Given the description of an element on the screen output the (x, y) to click on. 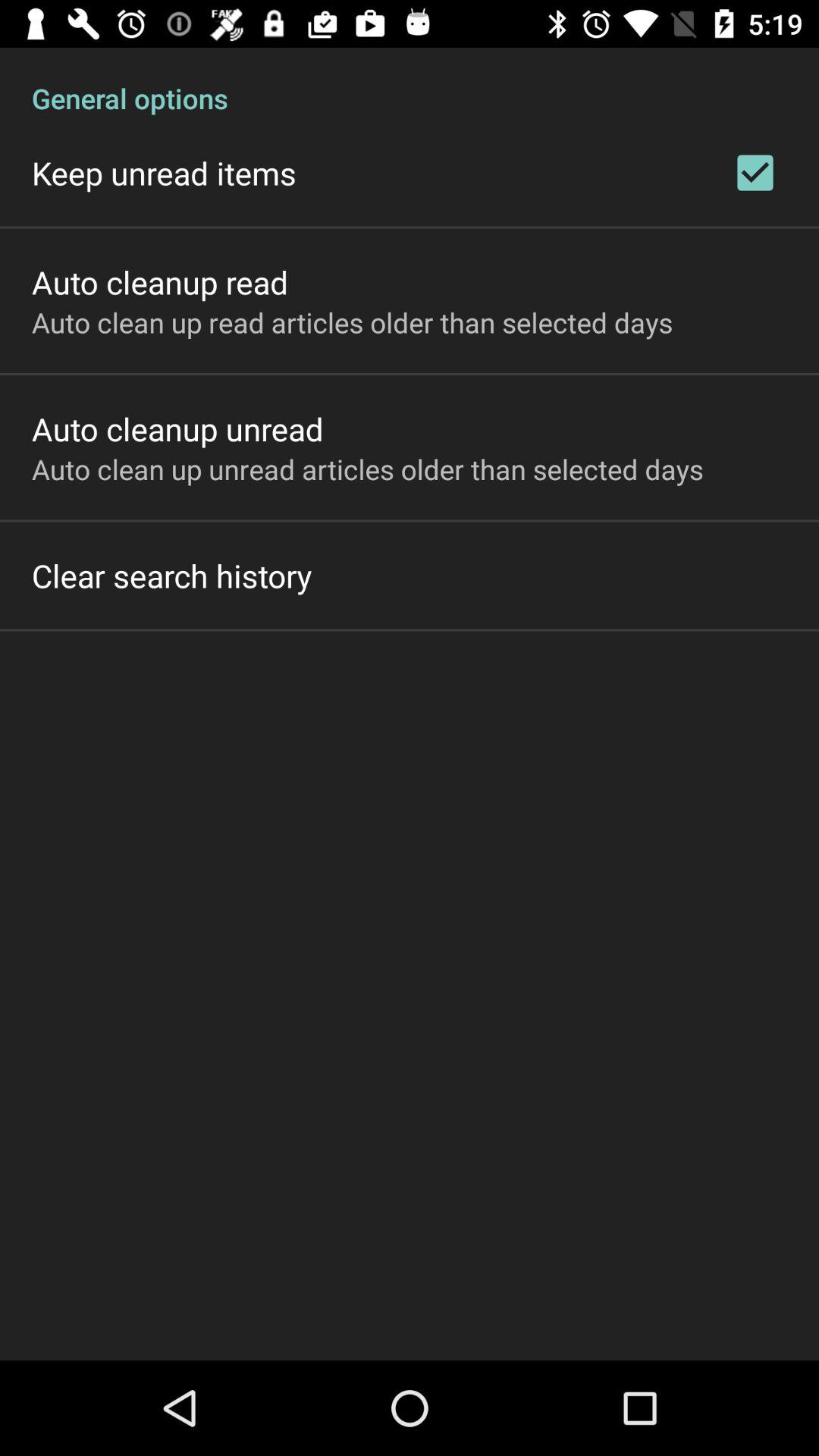
turn off the icon below general options (755, 172)
